Given the description of an element on the screen output the (x, y) to click on. 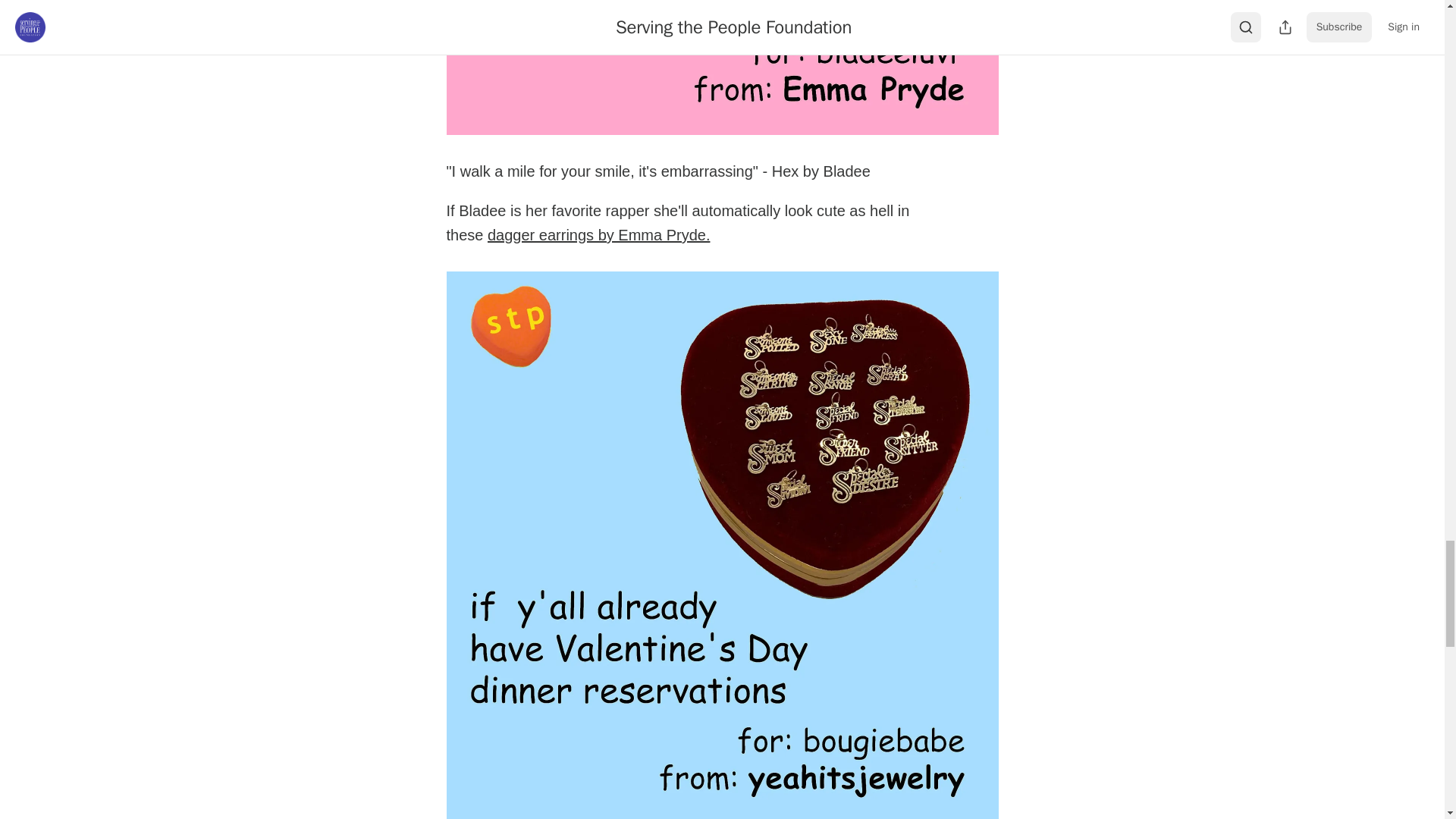
dagger earrings by Emma Pryde. (598, 234)
